Given the description of an element on the screen output the (x, y) to click on. 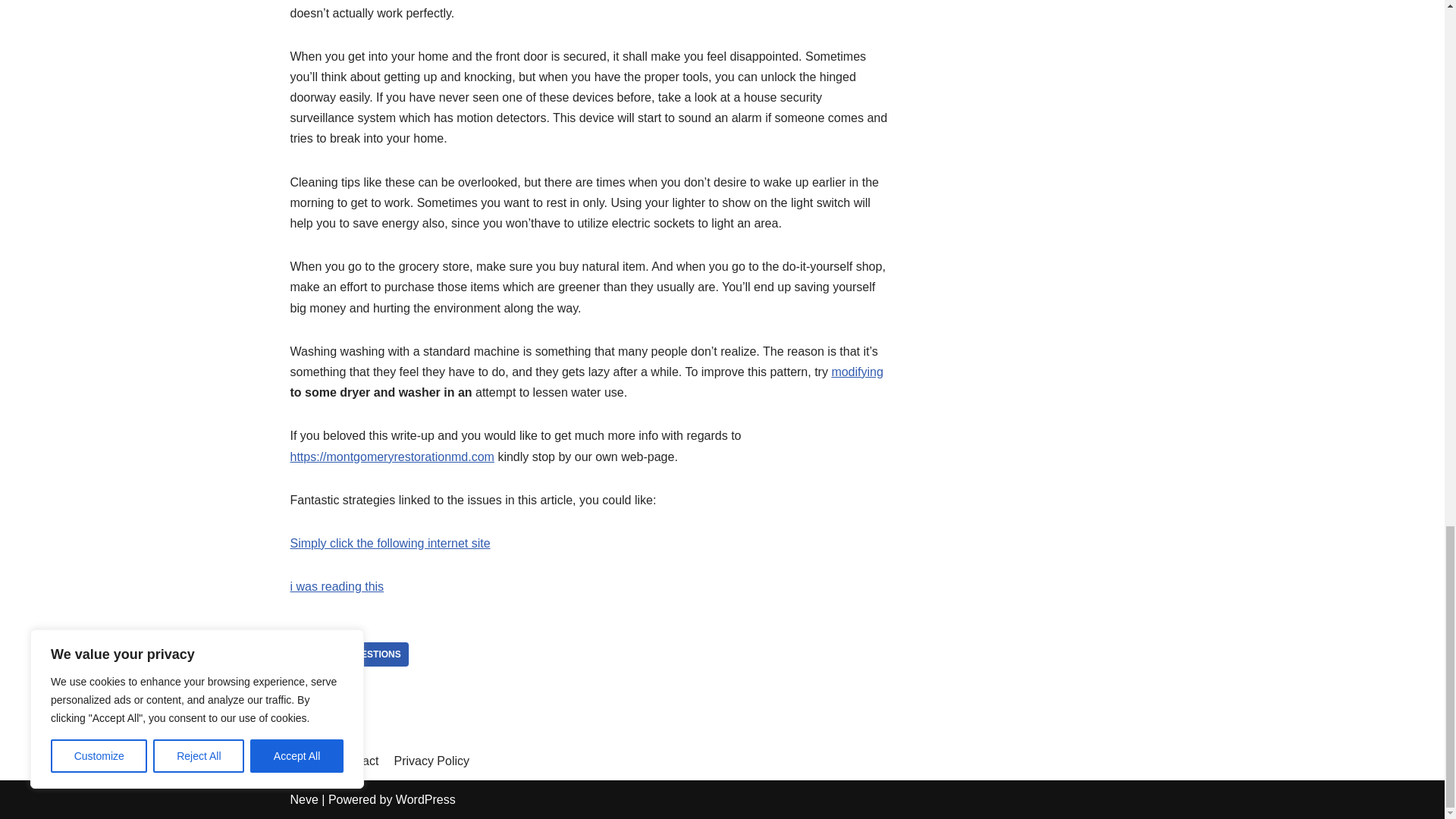
i was reading this (336, 585)
Simply click the following internet site (389, 543)
modifying (856, 371)
SUGGESTIONS (367, 654)
Suggestions (367, 654)
